Given the description of an element on the screen output the (x, y) to click on. 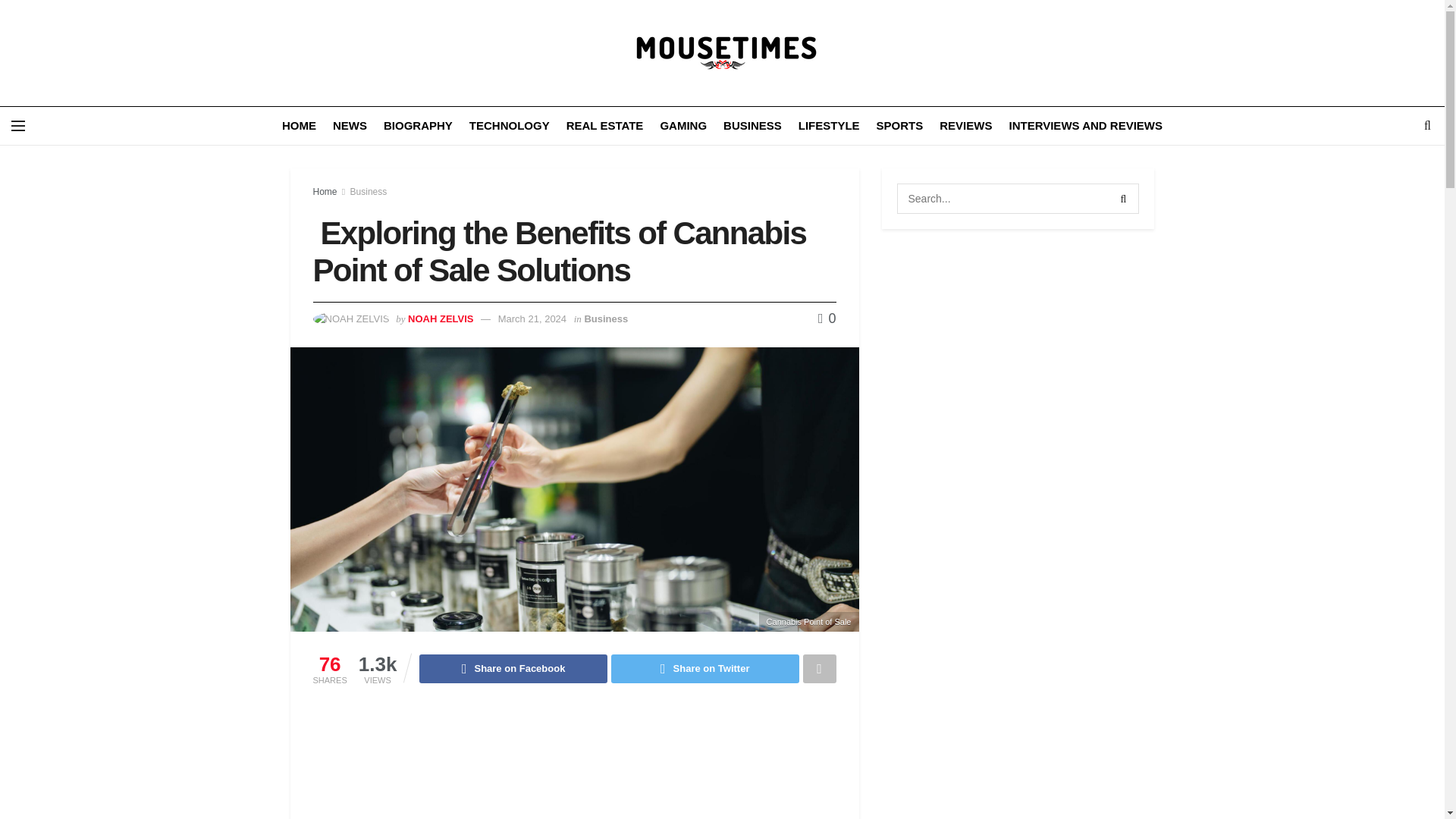
TECHNOLOGY (509, 125)
REAL ESTATE (604, 125)
SPORTS (899, 125)
BUSINESS (752, 125)
REVIEWS (965, 125)
Business (368, 191)
0 (826, 318)
HOME (298, 125)
LIFESTYLE (828, 125)
Home (324, 191)
BIOGRAPHY (418, 125)
Business (605, 318)
GAMING (682, 125)
NEWS (349, 125)
